Given the description of an element on the screen output the (x, y) to click on. 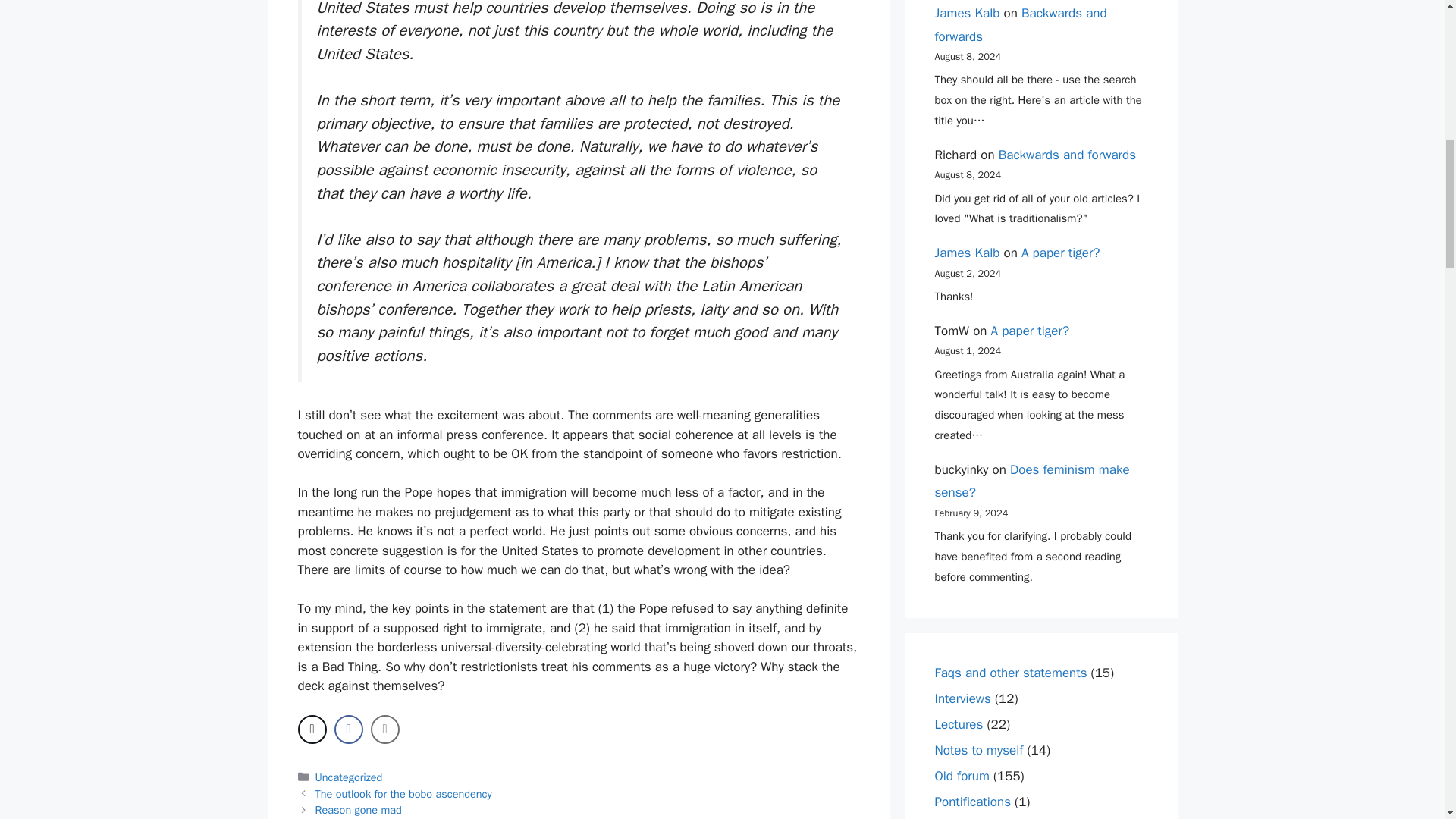
The outlook for the bobo ascendency (403, 793)
Uncategorized (348, 776)
Reason gone mad (358, 809)
